Given the description of an element on the screen output the (x, y) to click on. 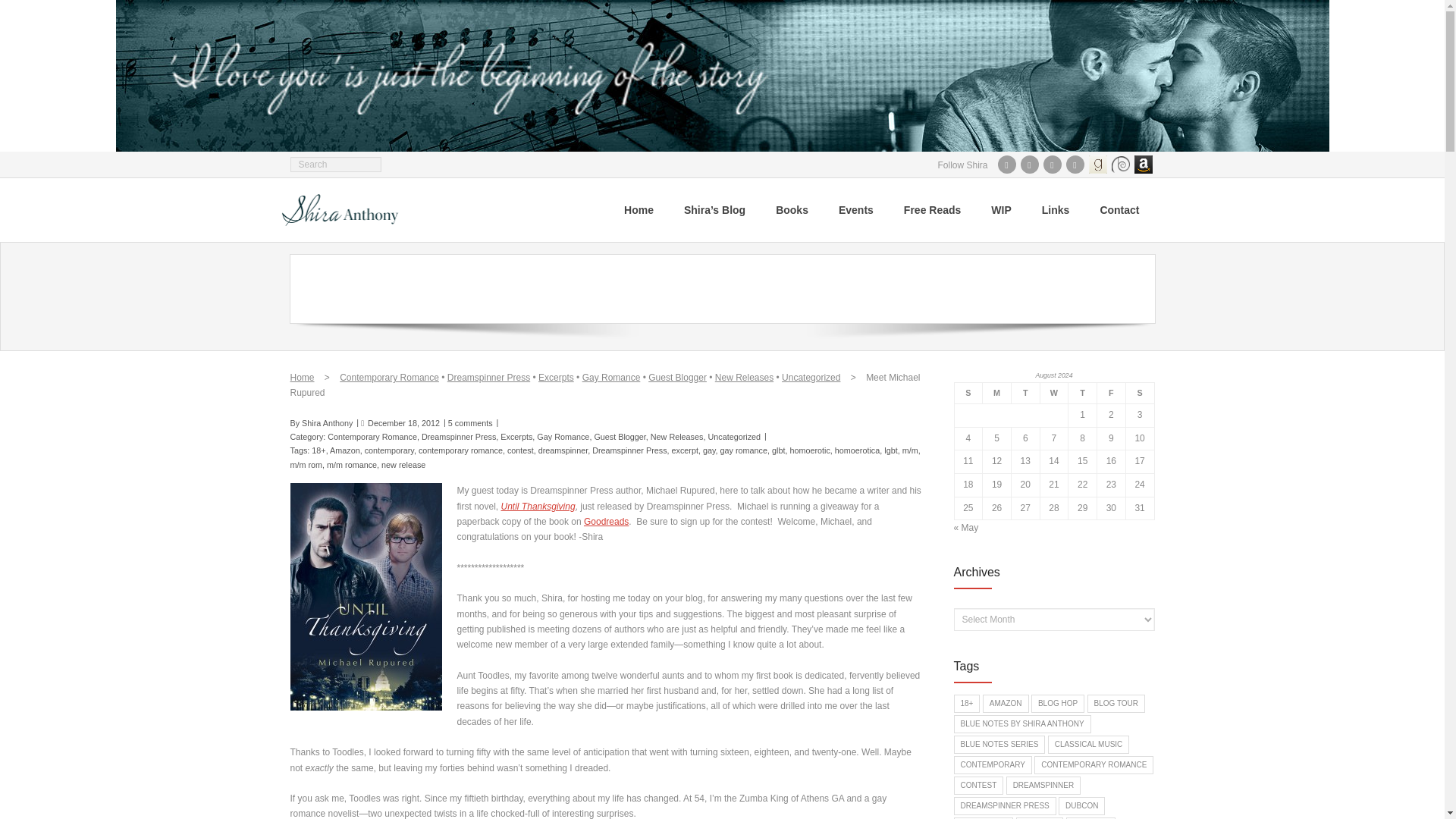
Saturday (1139, 392)
New Releases (743, 377)
Contemporary Romance (389, 377)
Free Reads (931, 209)
Friday (1111, 392)
Contact (1119, 209)
Meet Michael Rupured (403, 422)
View all posts by Shira Anthony (326, 422)
Dreamspinner Press (487, 377)
5 comments (470, 422)
